Given the description of an element on the screen output the (x, y) to click on. 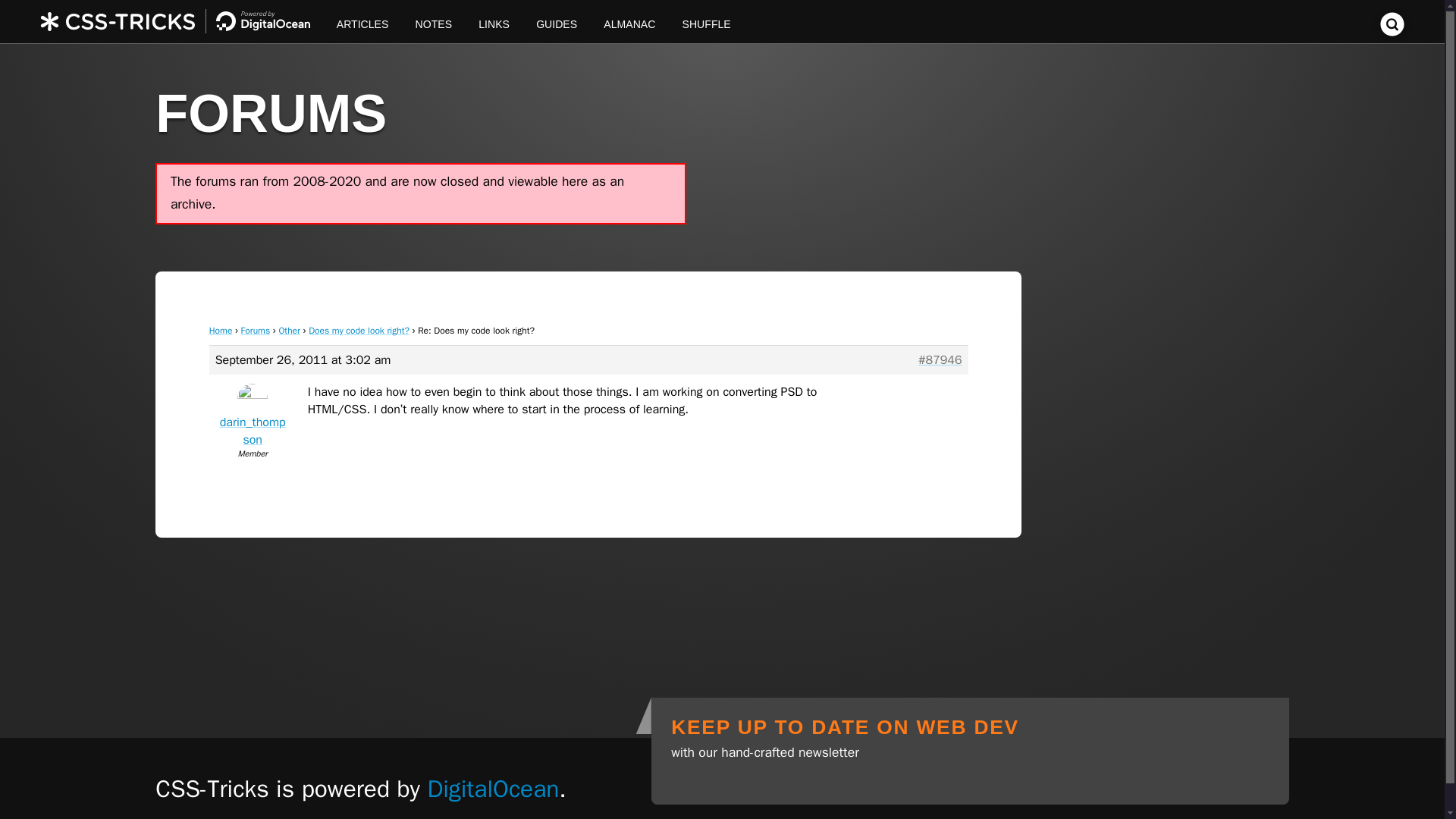
Home (220, 330)
ARTICLES (362, 21)
ALMANAC (629, 21)
LINKS (493, 21)
Forums (255, 330)
GUIDES (556, 21)
SHUFFLE (706, 21)
Does my code look right? (358, 330)
CSS-Tricks (181, 21)
Other (288, 330)
